Given the description of an element on the screen output the (x, y) to click on. 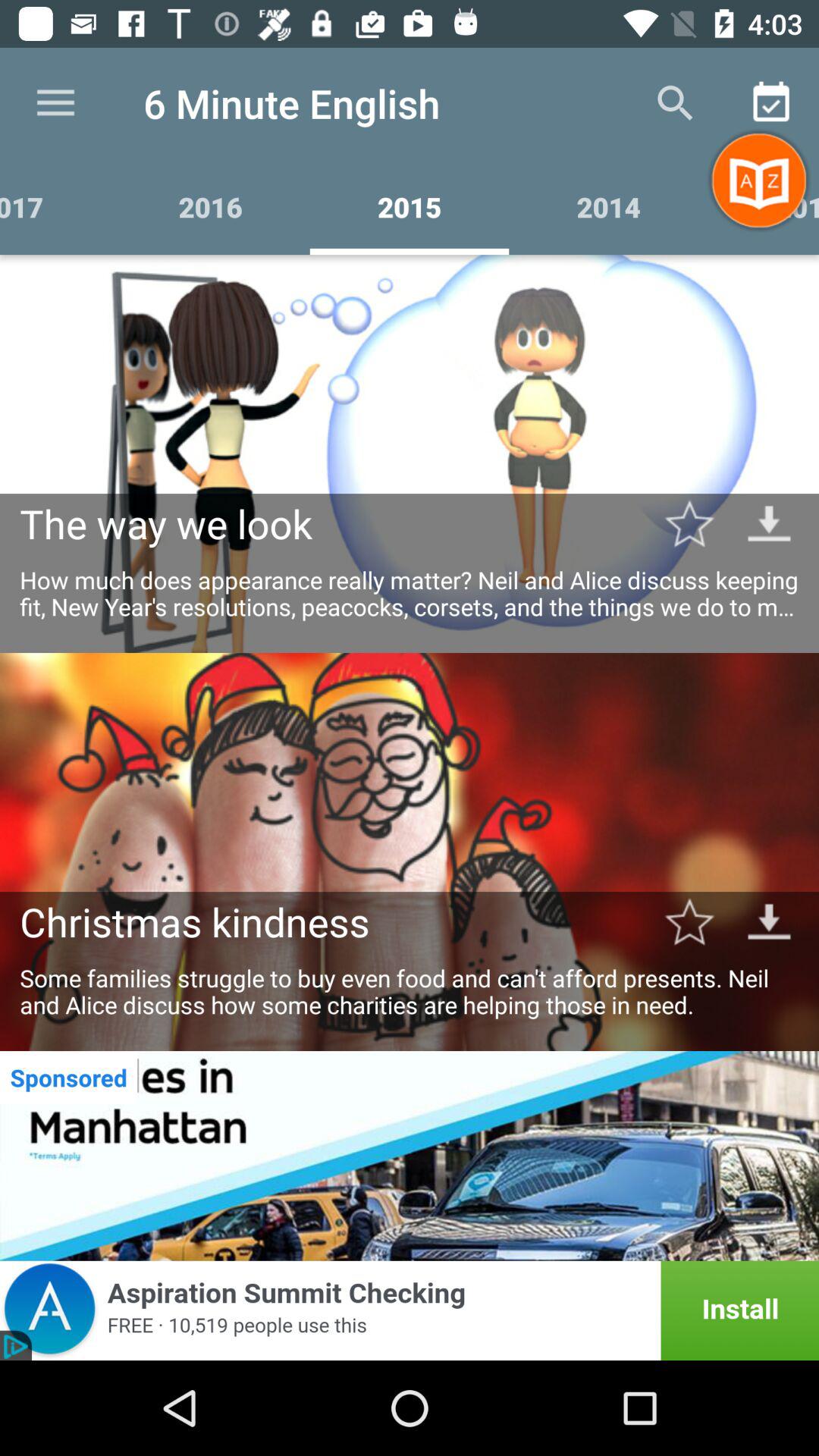
jump to the sponsored icon (68, 1077)
